Given the description of an element on the screen output the (x, y) to click on. 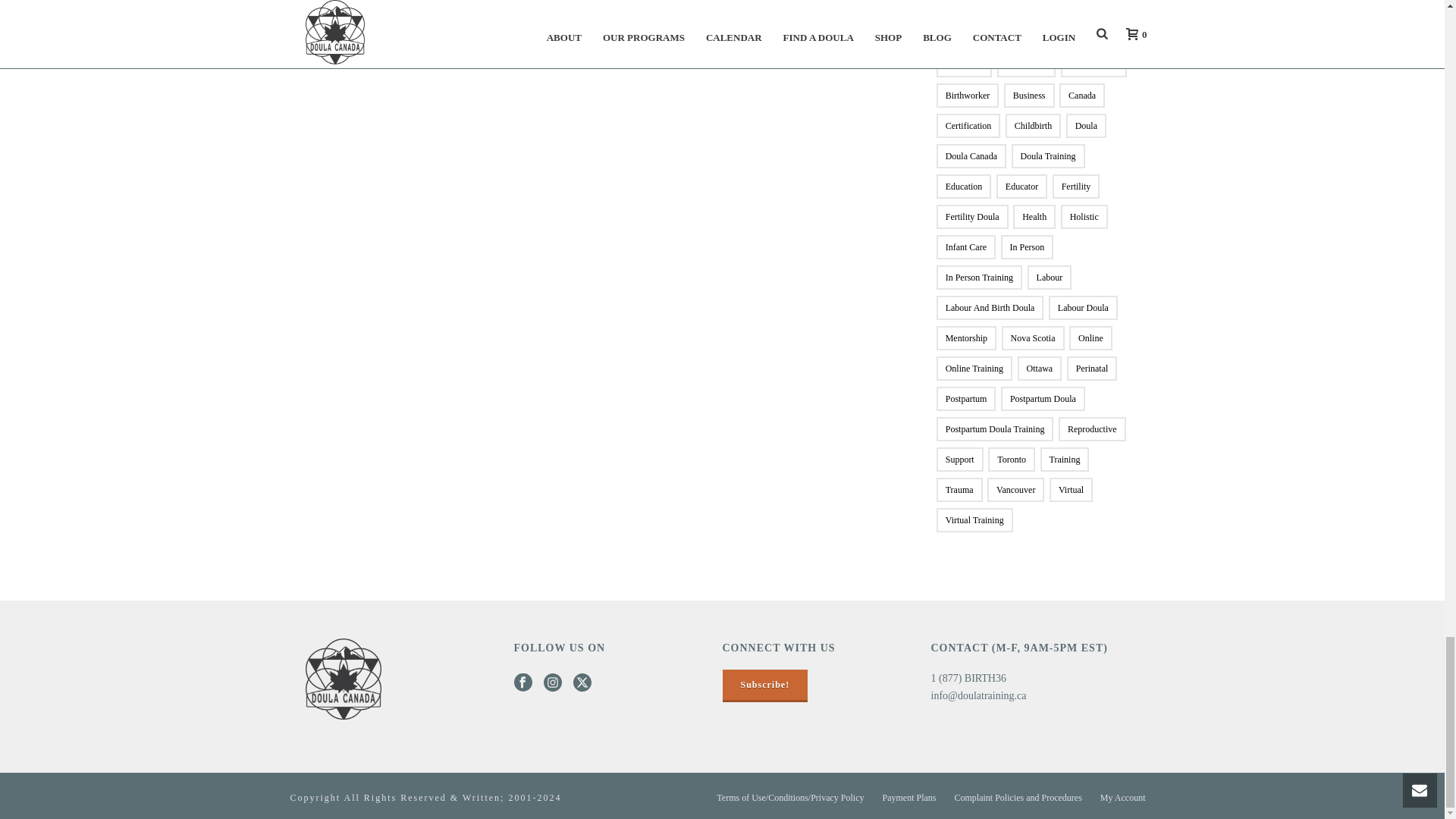
Follow Us on twitter (582, 683)
Subscribe! (765, 684)
Follow Us on instagram (551, 683)
